Given the description of an element on the screen output the (x, y) to click on. 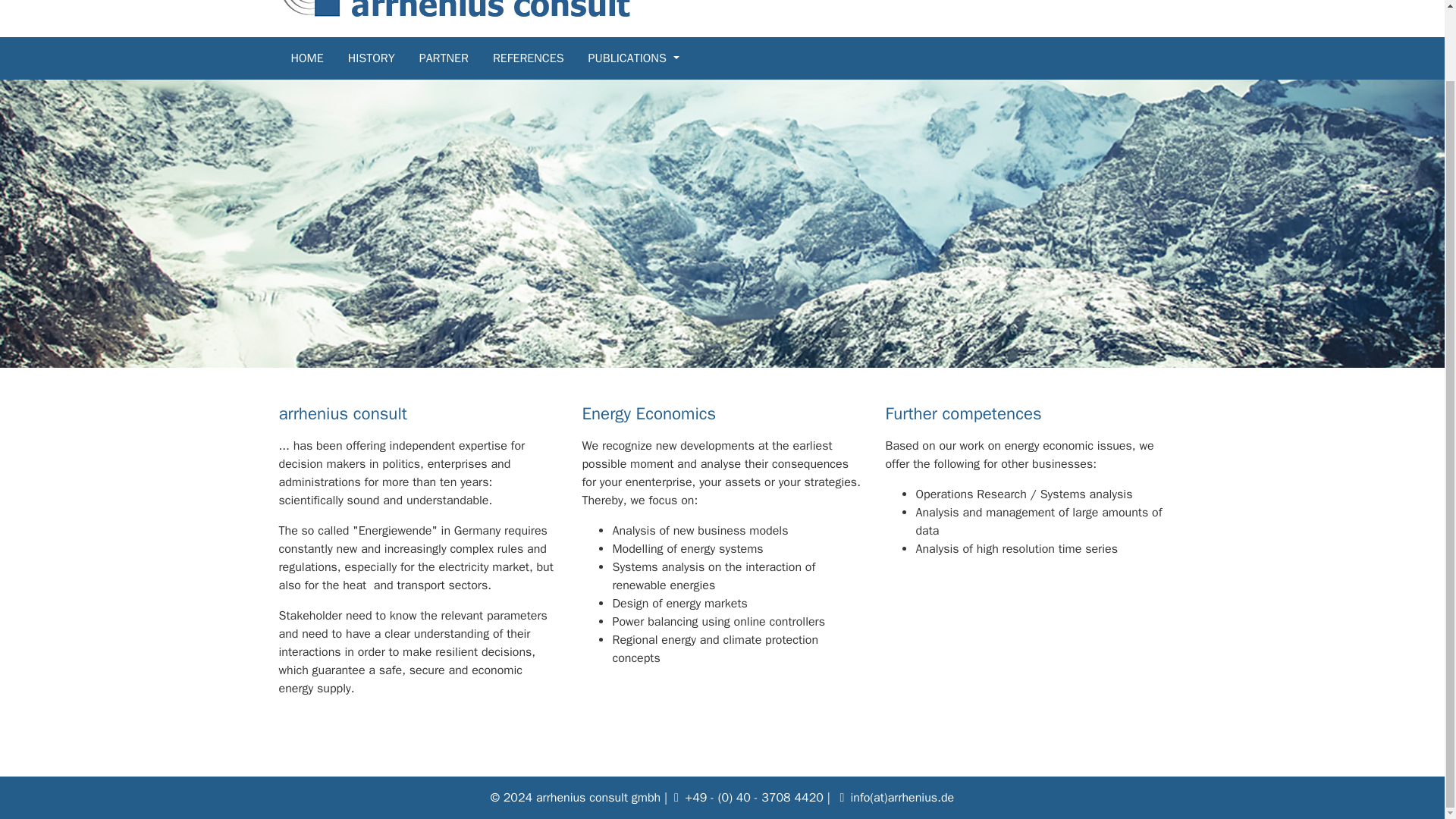
Home (319, 58)
REFERENCES (540, 58)
Publications (645, 58)
HISTORY (383, 58)
History (383, 58)
Partner (456, 58)
PARTNER (456, 58)
HOME (319, 58)
References (540, 58)
PUBLICATIONS (645, 58)
